Given the description of an element on the screen output the (x, y) to click on. 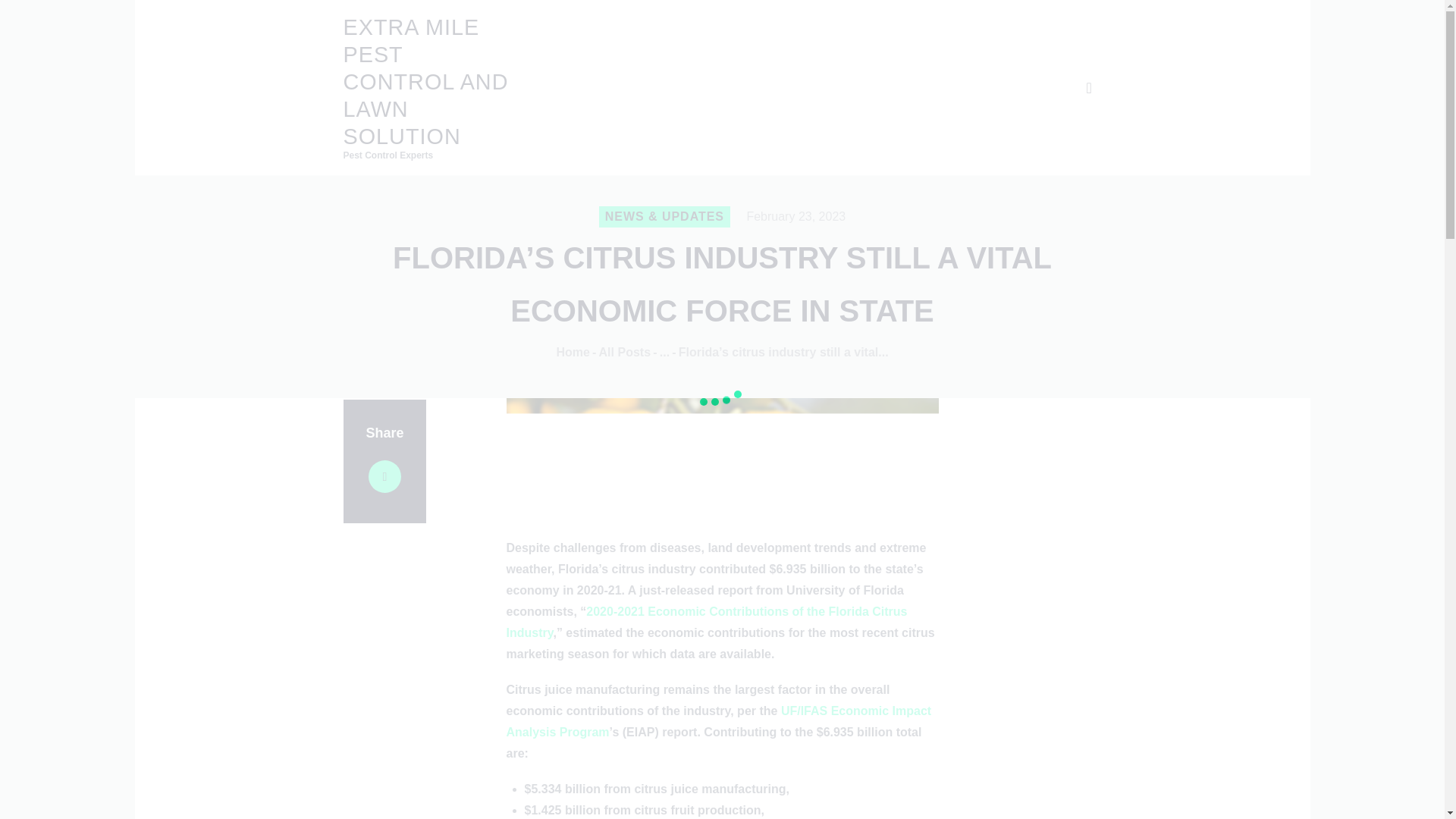
Home (572, 351)
All Posts (624, 351)
